Given the description of an element on the screen output the (x, y) to click on. 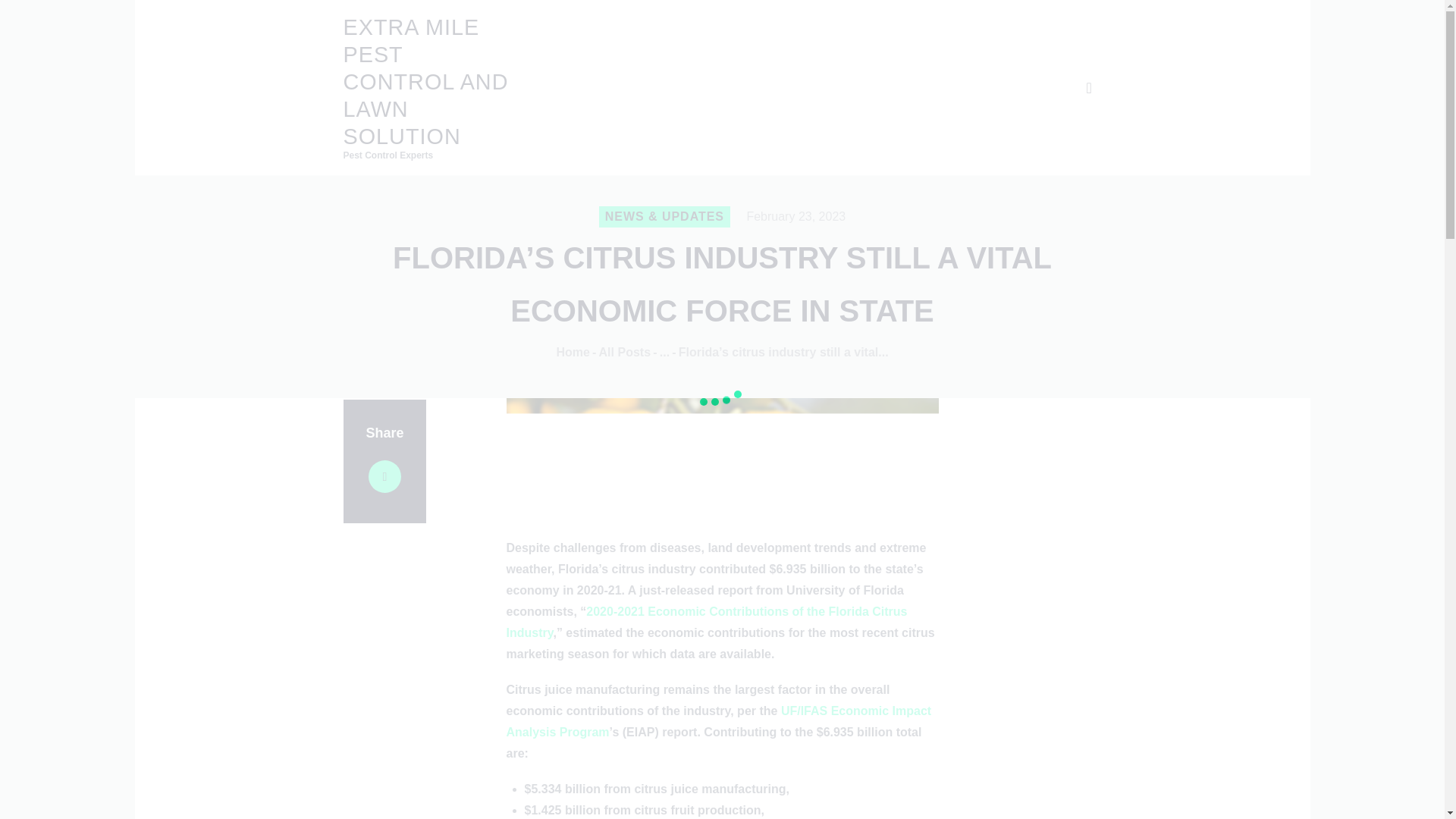
Home (572, 351)
All Posts (624, 351)
